Given the description of an element on the screen output the (x, y) to click on. 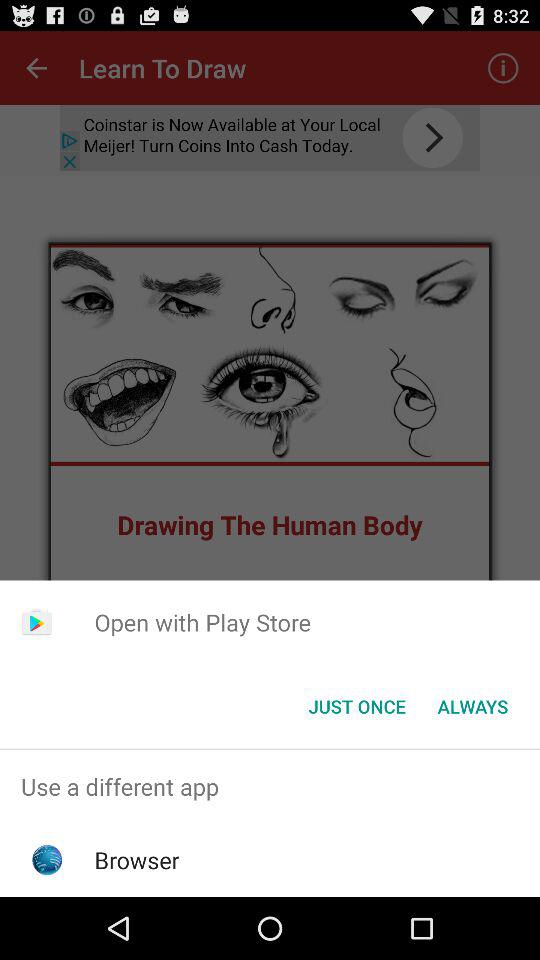
scroll to use a different app (270, 786)
